Given the description of an element on the screen output the (x, y) to click on. 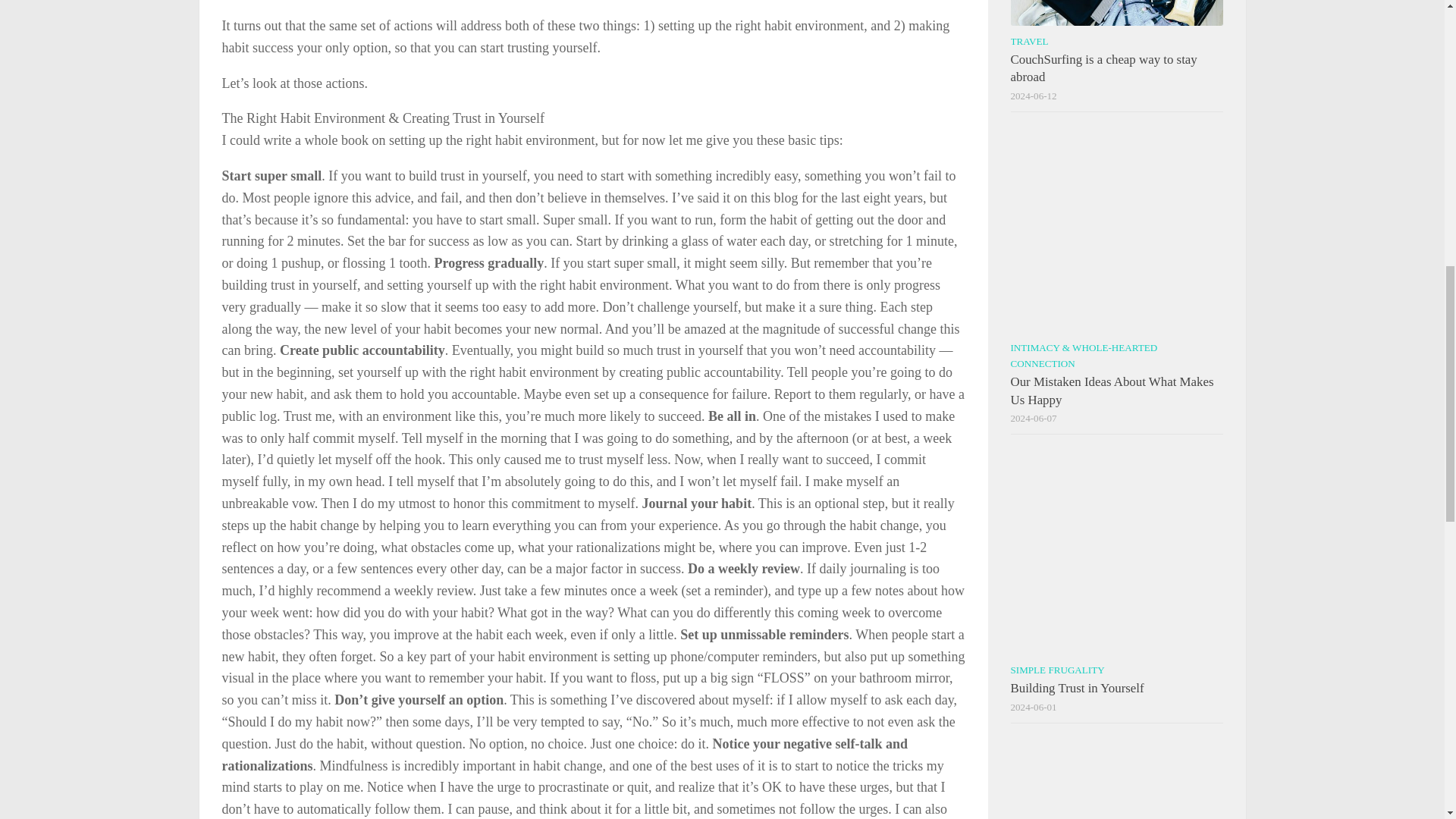
TRAVEL (1029, 41)
Building Trust in Yourself (1076, 687)
CouchSurfing is a cheap way to stay abroad (1103, 68)
SIMPLE FRUGALITY (1056, 669)
Our Mistaken Ideas About What Makes Us Happy (1111, 390)
